Given the description of an element on the screen output the (x, y) to click on. 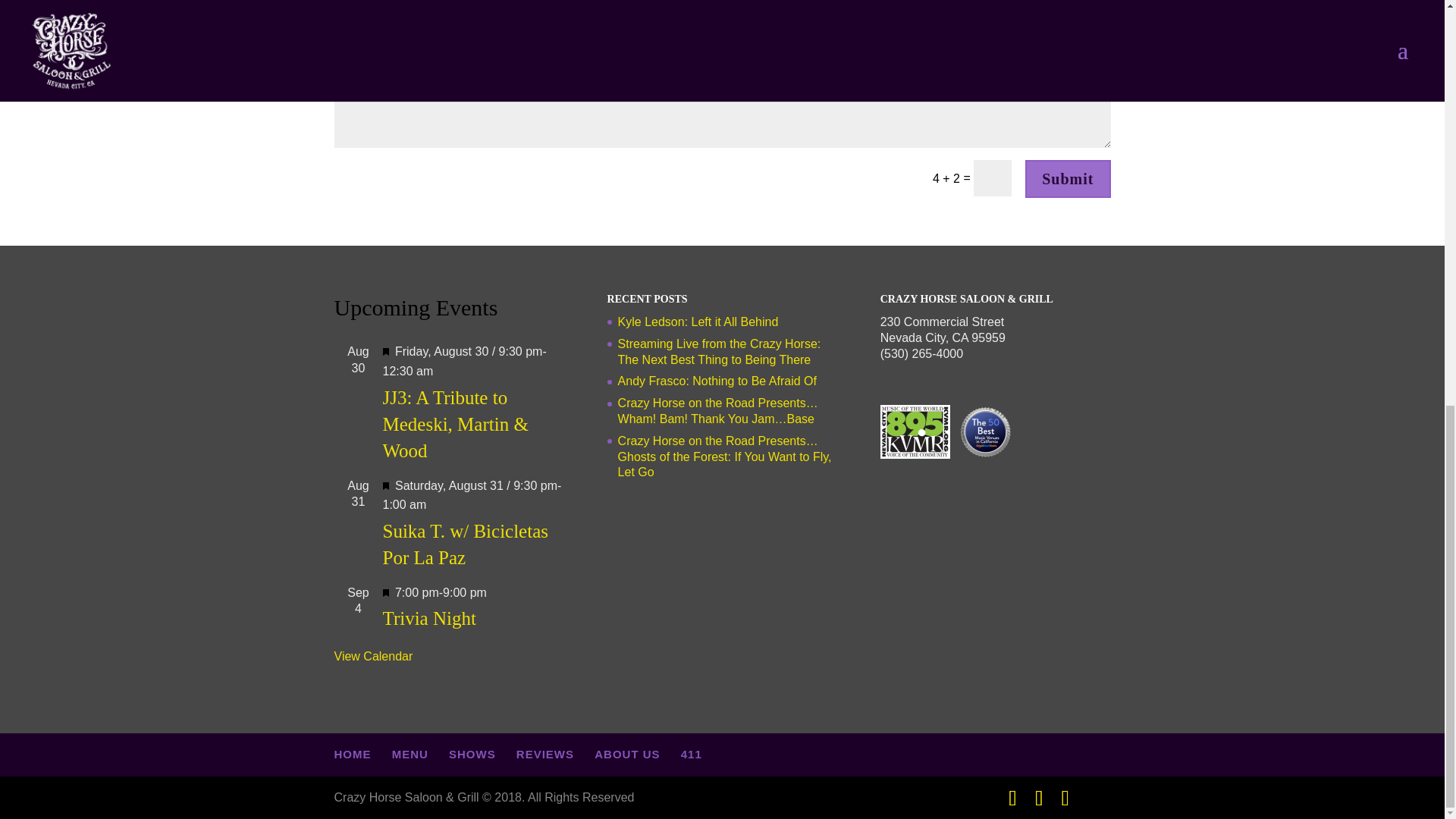
REVIEWS (544, 753)
ABOUT US (626, 753)
HOME (352, 753)
Trivia Night (428, 618)
View more events. (372, 656)
411 (691, 753)
Andy Frasco: Nothing to Be Afraid Of (716, 380)
Submit (1067, 178)
MENU (409, 753)
Kyle Ledson: Left it All Behind (697, 321)
